Given the description of an element on the screen output the (x, y) to click on. 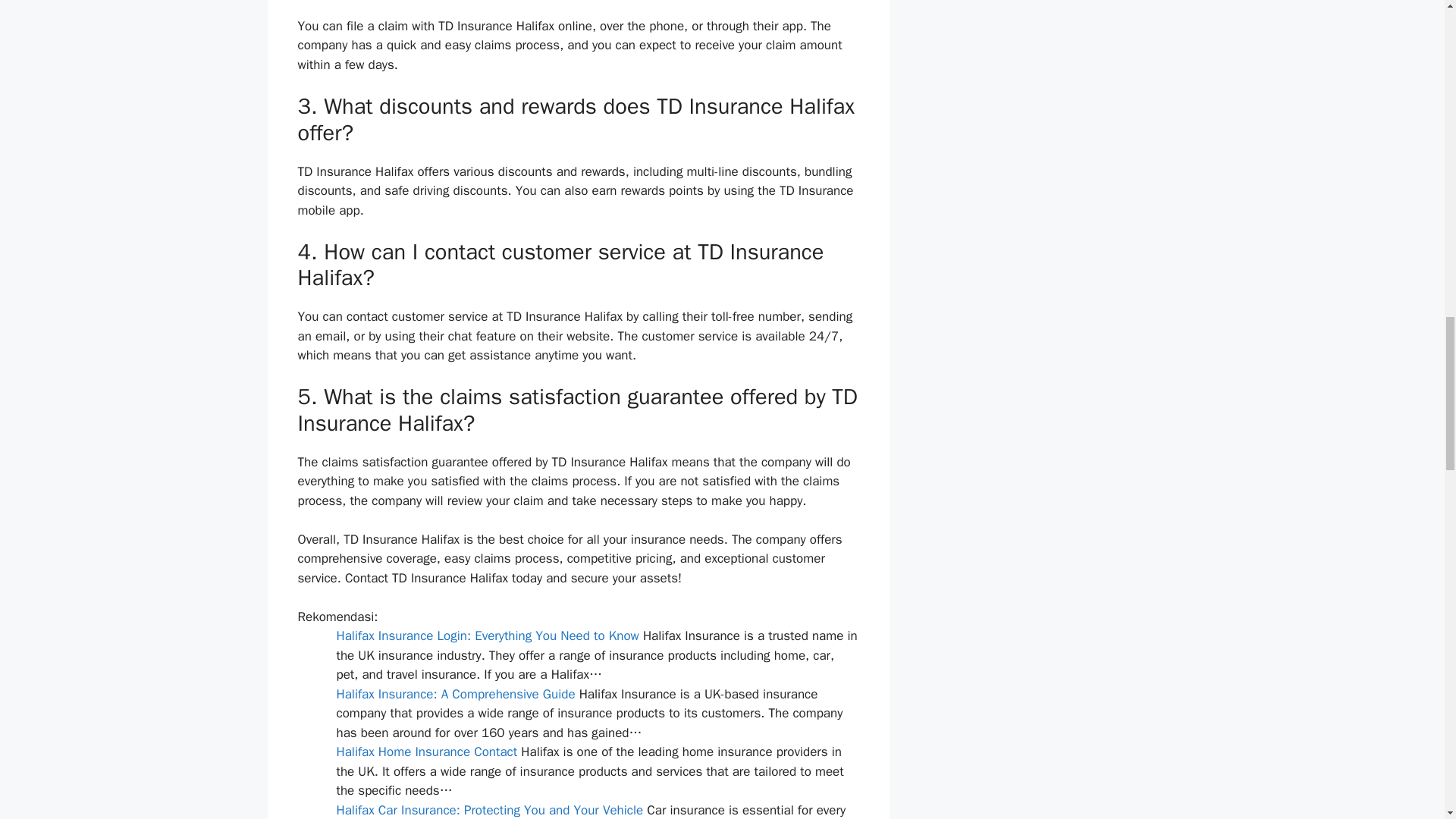
Halifax Home Insurance Contact (427, 751)
Halifax Insurance: A Comprehensive Guide (455, 693)
Halifax Car Insurance: Protecting You and Your Vehicle (489, 810)
Halifax Insurance Login: Everything You Need to Know (487, 635)
